Given the description of an element on the screen output the (x, y) to click on. 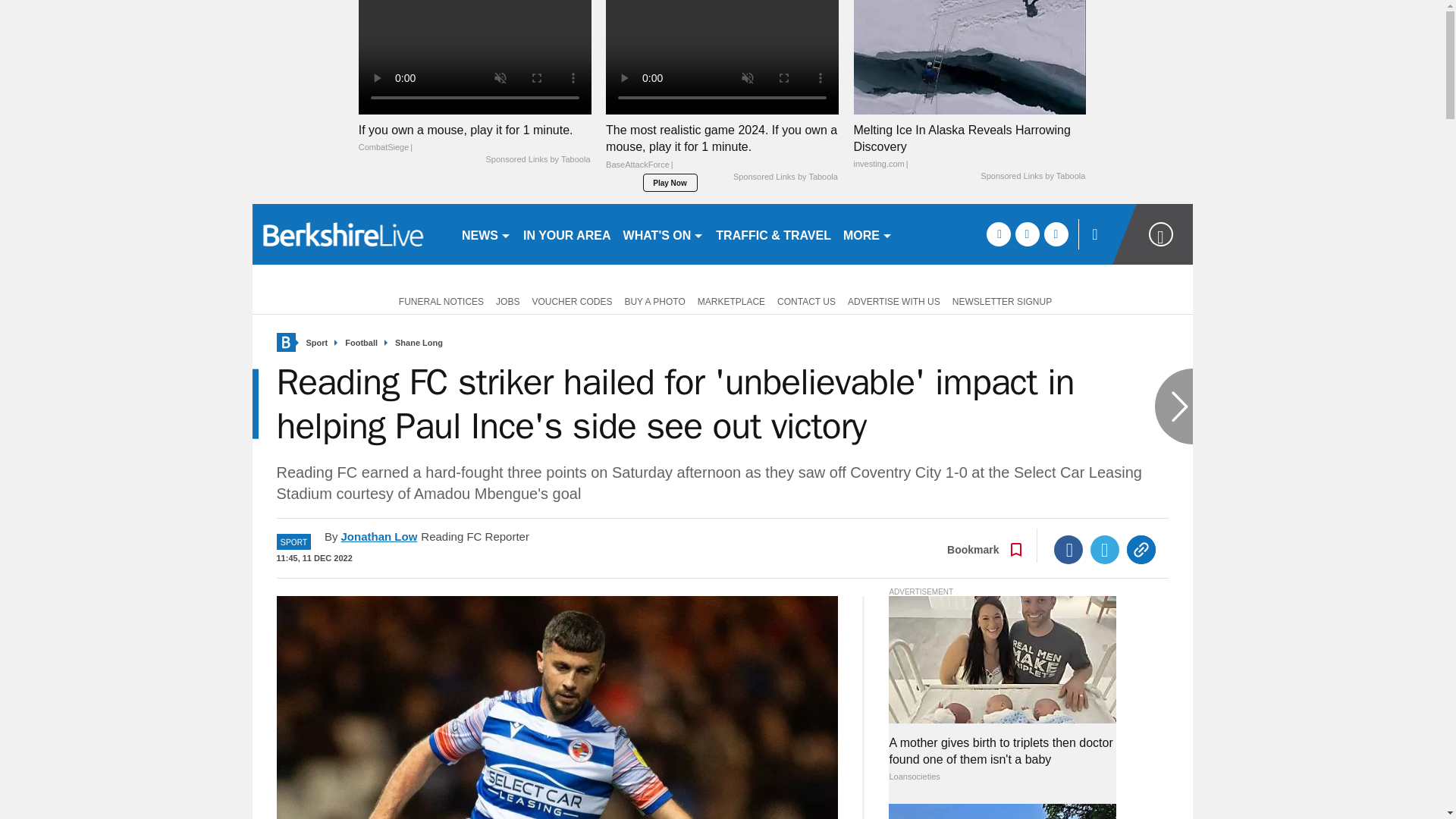
instagram (1055, 233)
Sponsored Links by Taboola (1031, 176)
facebook (997, 233)
Melting Ice In Alaska Reveals Harrowing Discovery (969, 57)
Facebook (1068, 549)
getreading (349, 233)
If you own a mouse, play it for 1 minute. (474, 138)
Sponsored Links by Taboola (785, 176)
Melting Ice In Alaska Reveals Harrowing Discovery (969, 146)
Twitter (1104, 549)
Play Now (670, 182)
Sponsored Links by Taboola (536, 159)
NEWS (485, 233)
